Given the description of an element on the screen output the (x, y) to click on. 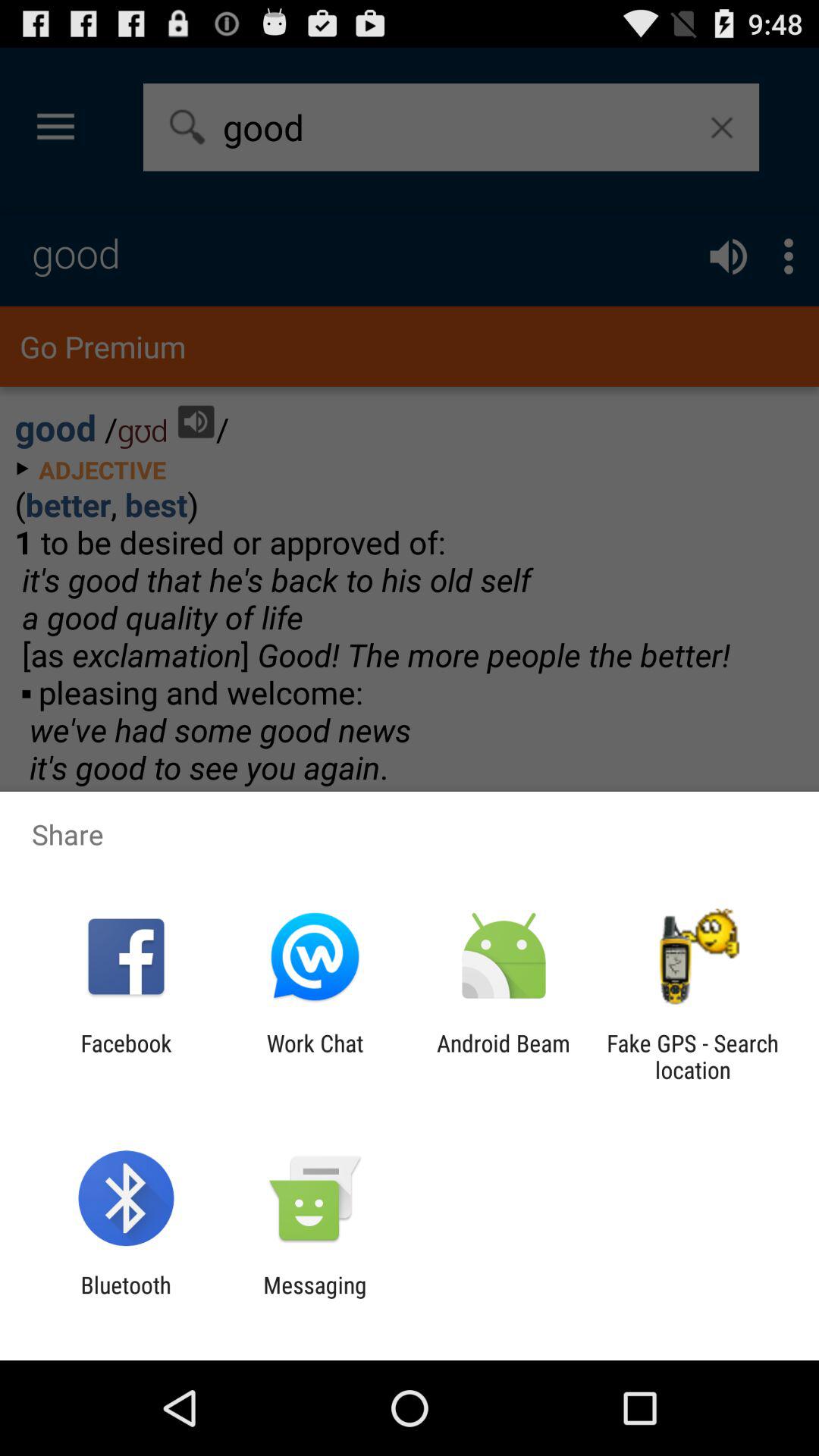
turn off icon next to the android beam app (692, 1056)
